Given the description of an element on the screen output the (x, y) to click on. 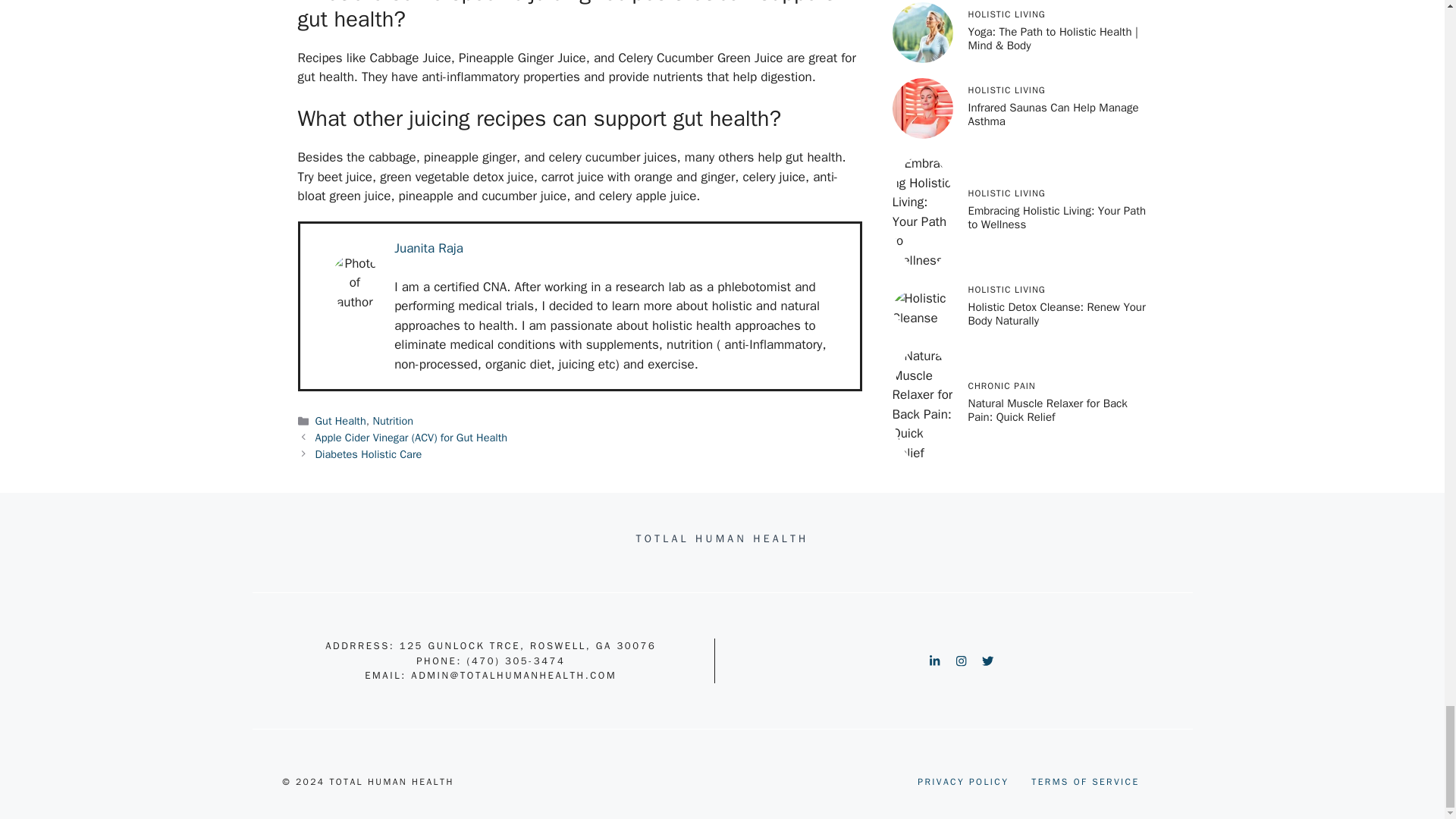
Gut Health (340, 420)
Juanita Raja (428, 248)
Diabetes Holistic Care (368, 453)
Nutrition (392, 420)
